Given the description of an element on the screen output the (x, y) to click on. 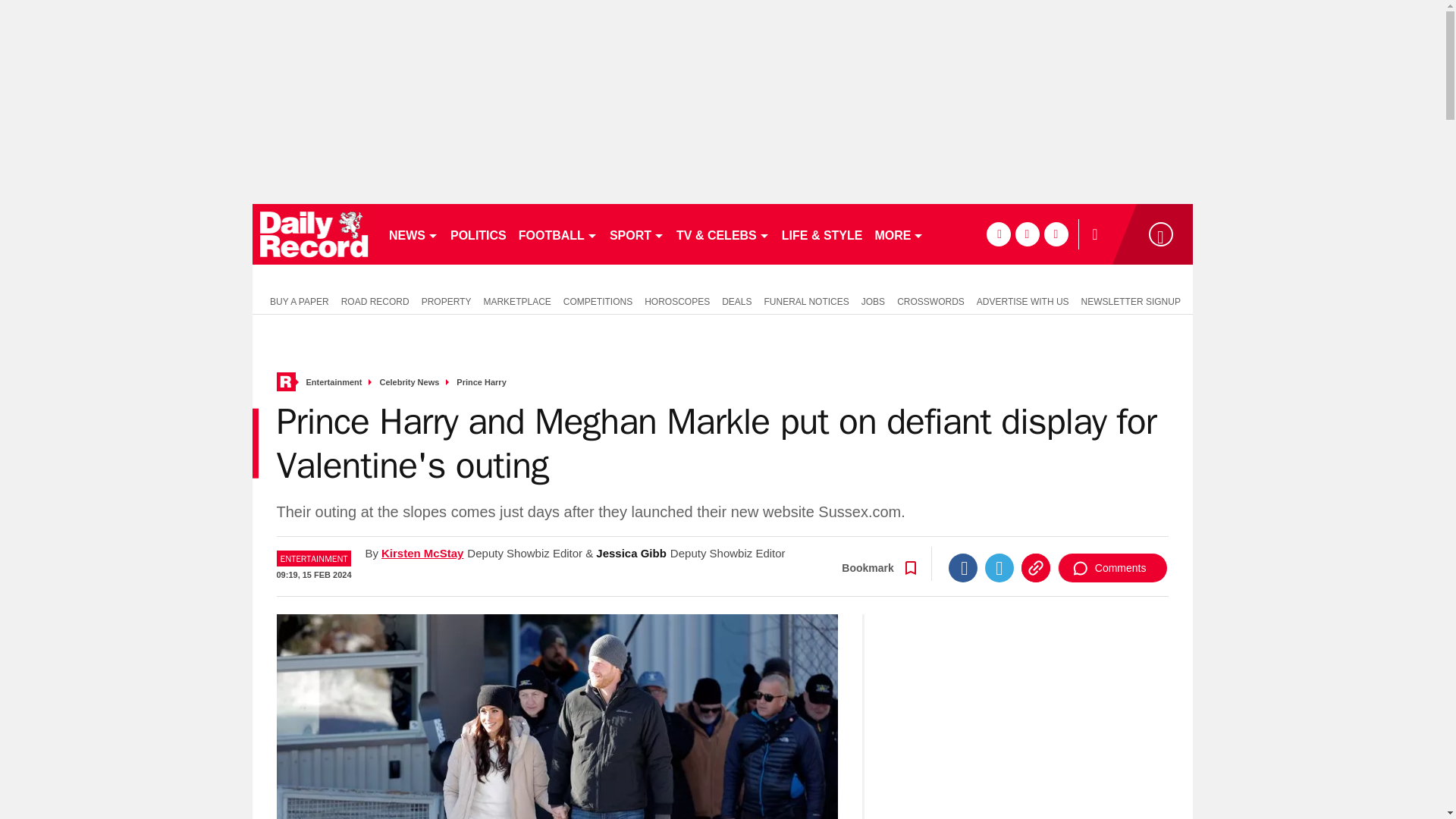
POLITICS (478, 233)
Comments (1112, 567)
dailyrecord (313, 233)
SPORT (636, 233)
NEWS (413, 233)
Twitter (999, 567)
twitter (1026, 233)
Facebook (962, 567)
instagram (1055, 233)
facebook (997, 233)
